Given the description of an element on the screen output the (x, y) to click on. 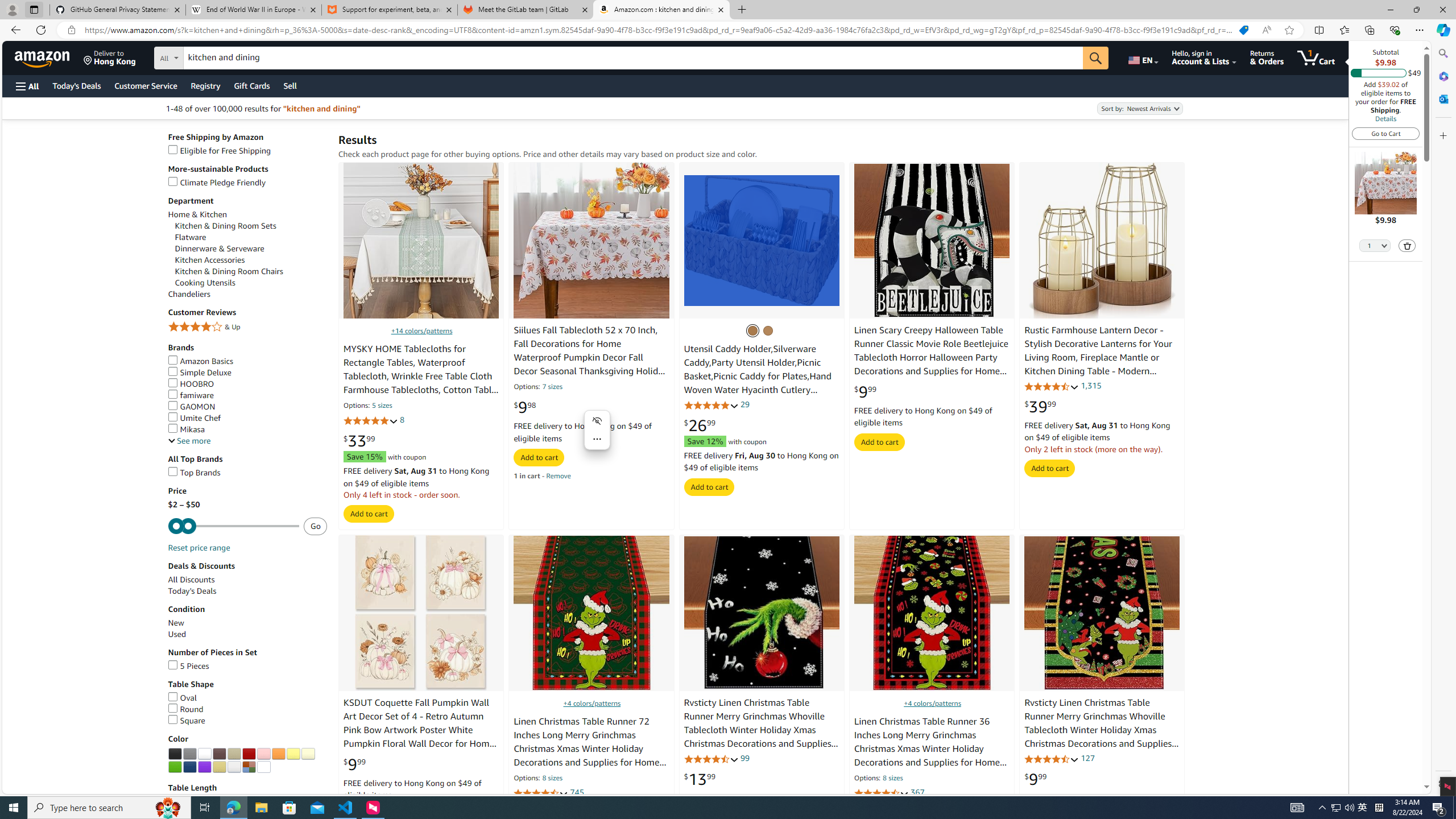
$33.99 (359, 440)
5 sizes (381, 405)
745 (576, 792)
Black (174, 753)
7 sizes (552, 387)
Oval (247, 697)
